Given the description of an element on the screen output the (x, y) to click on. 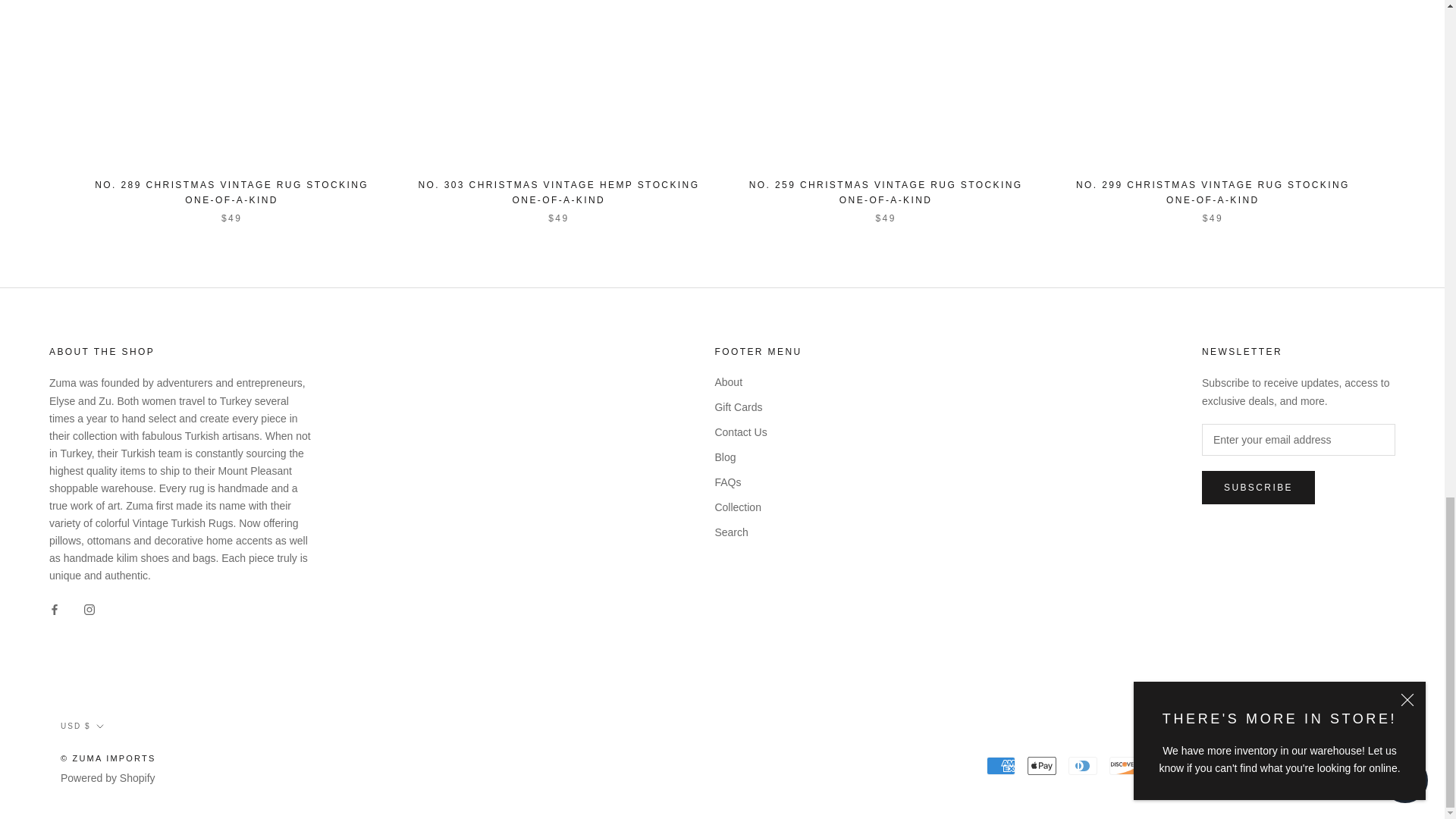
Apple Pay (1042, 765)
Discover (1123, 765)
Shop Pay (1286, 765)
PayPal (1245, 765)
Mastercard (1205, 765)
Diners Club (1082, 765)
American Express (1000, 765)
Meta Pay (1164, 765)
